Given the description of an element on the screen output the (x, y) to click on. 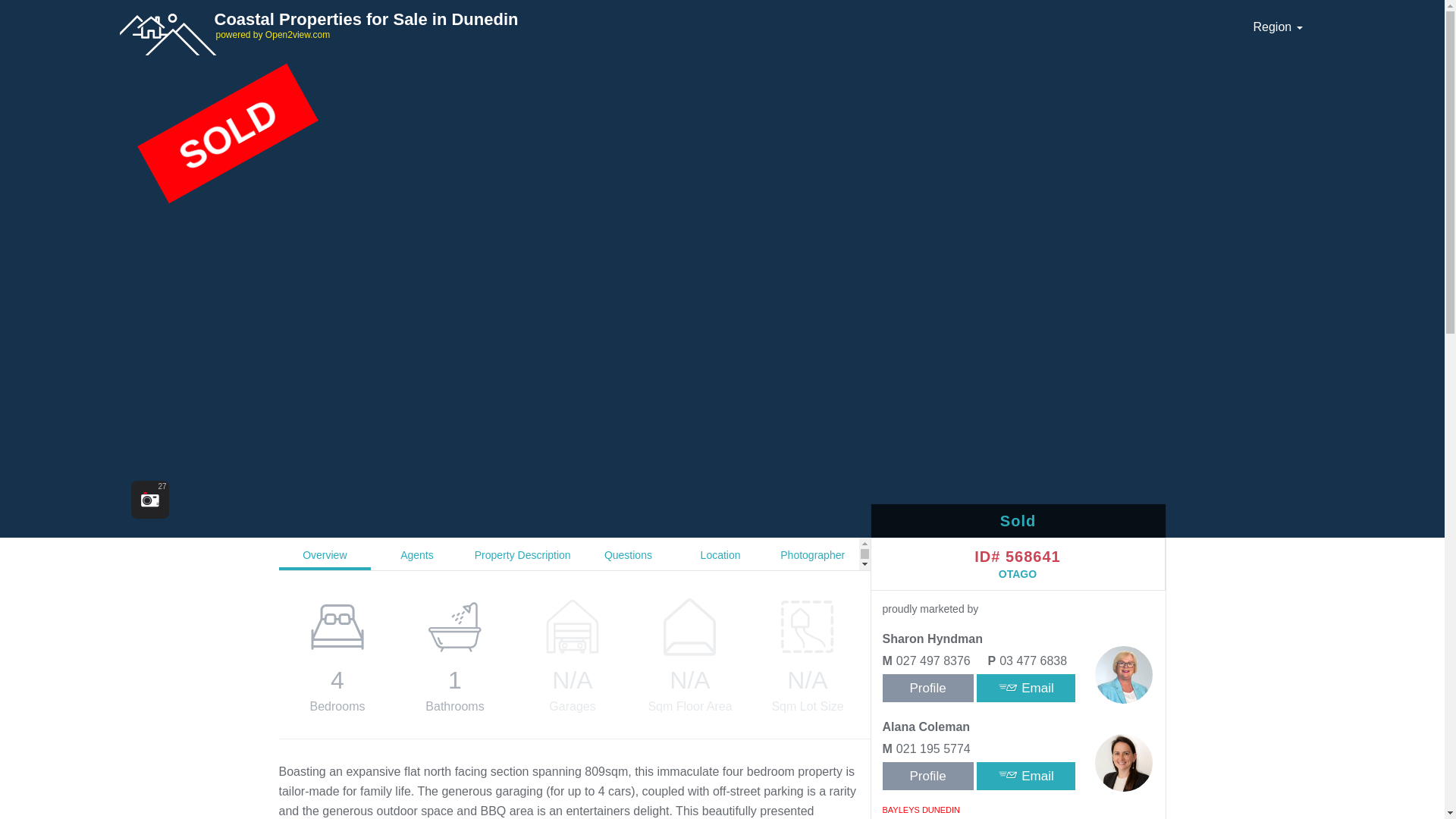
Coastal Properties for Sale in Dunedin (369, 19)
